Given the description of an element on the screen output the (x, y) to click on. 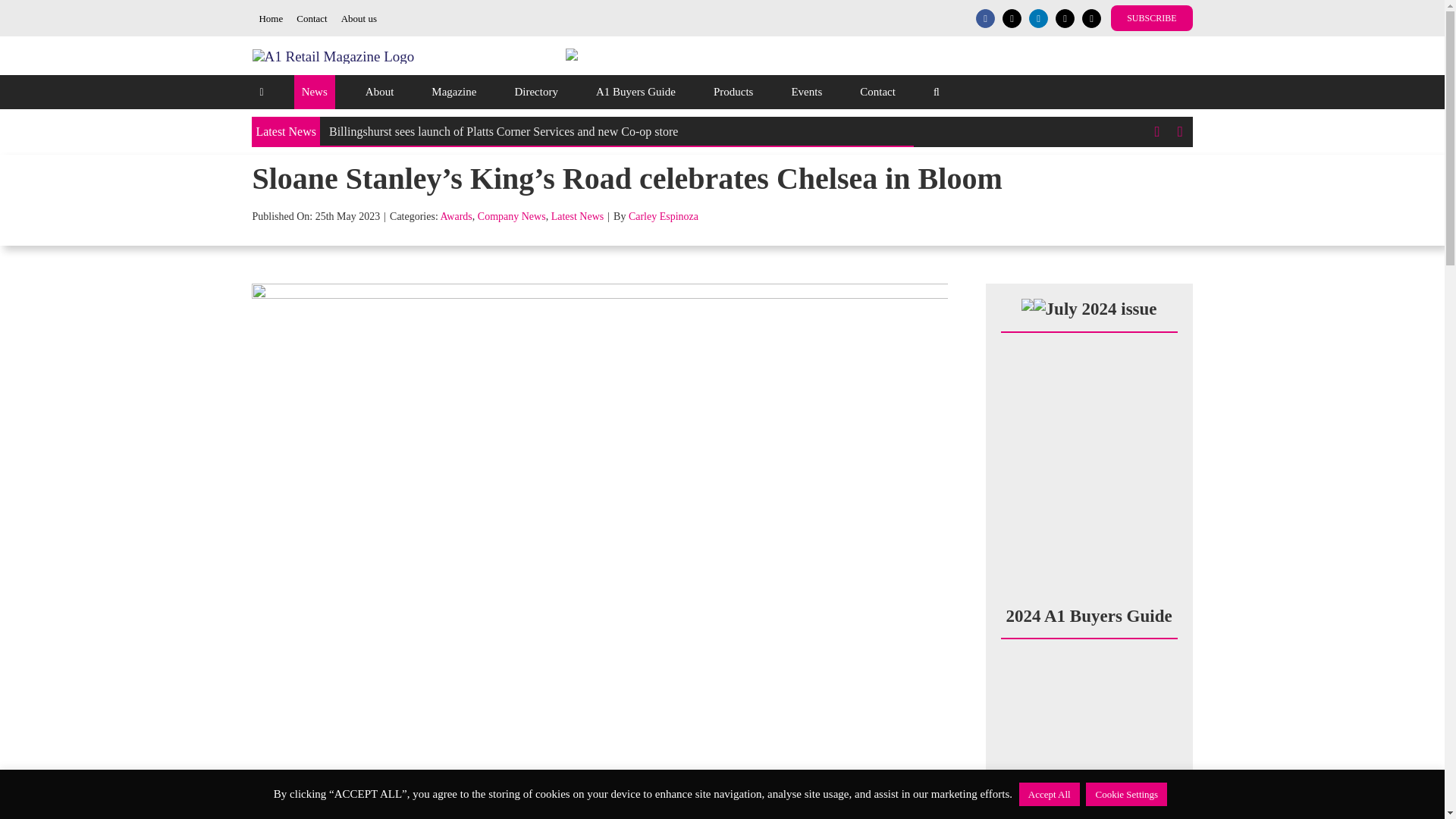
LinkedIn (1038, 18)
X (1012, 18)
About us (359, 18)
Home (270, 18)
Phone (1090, 18)
SUBSCRIBE (1151, 17)
Magazine (453, 91)
Facebook (984, 18)
Email (1064, 18)
Contact (311, 18)
News (314, 91)
About (379, 91)
